Given the description of an element on the screen output the (x, y) to click on. 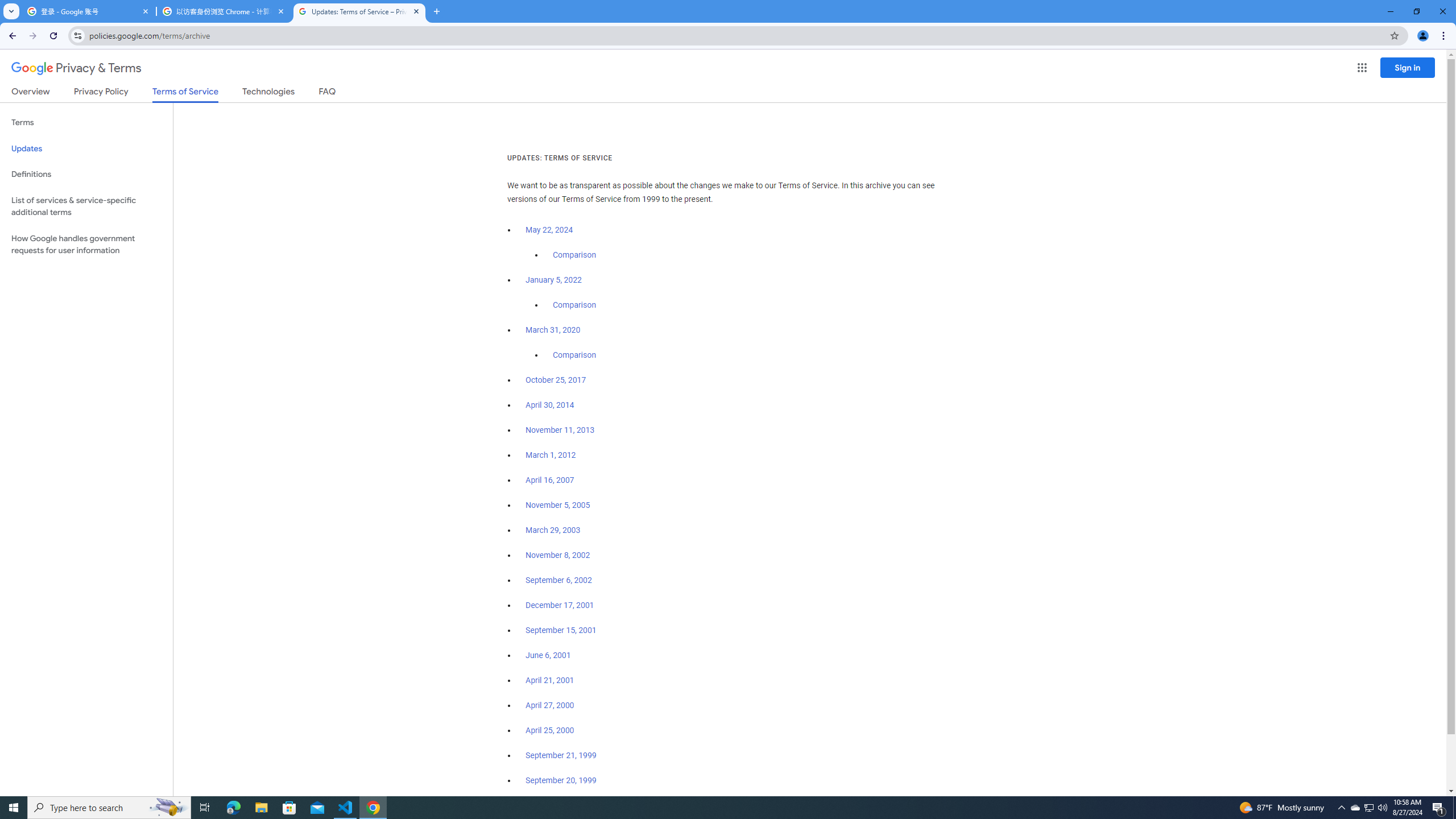
December 17, 2001 (559, 605)
November 8, 2002 (557, 555)
January 5, 2022 (553, 280)
April 25, 2000 (550, 729)
April 21, 2001 (550, 679)
